Given the description of an element on the screen output the (x, y) to click on. 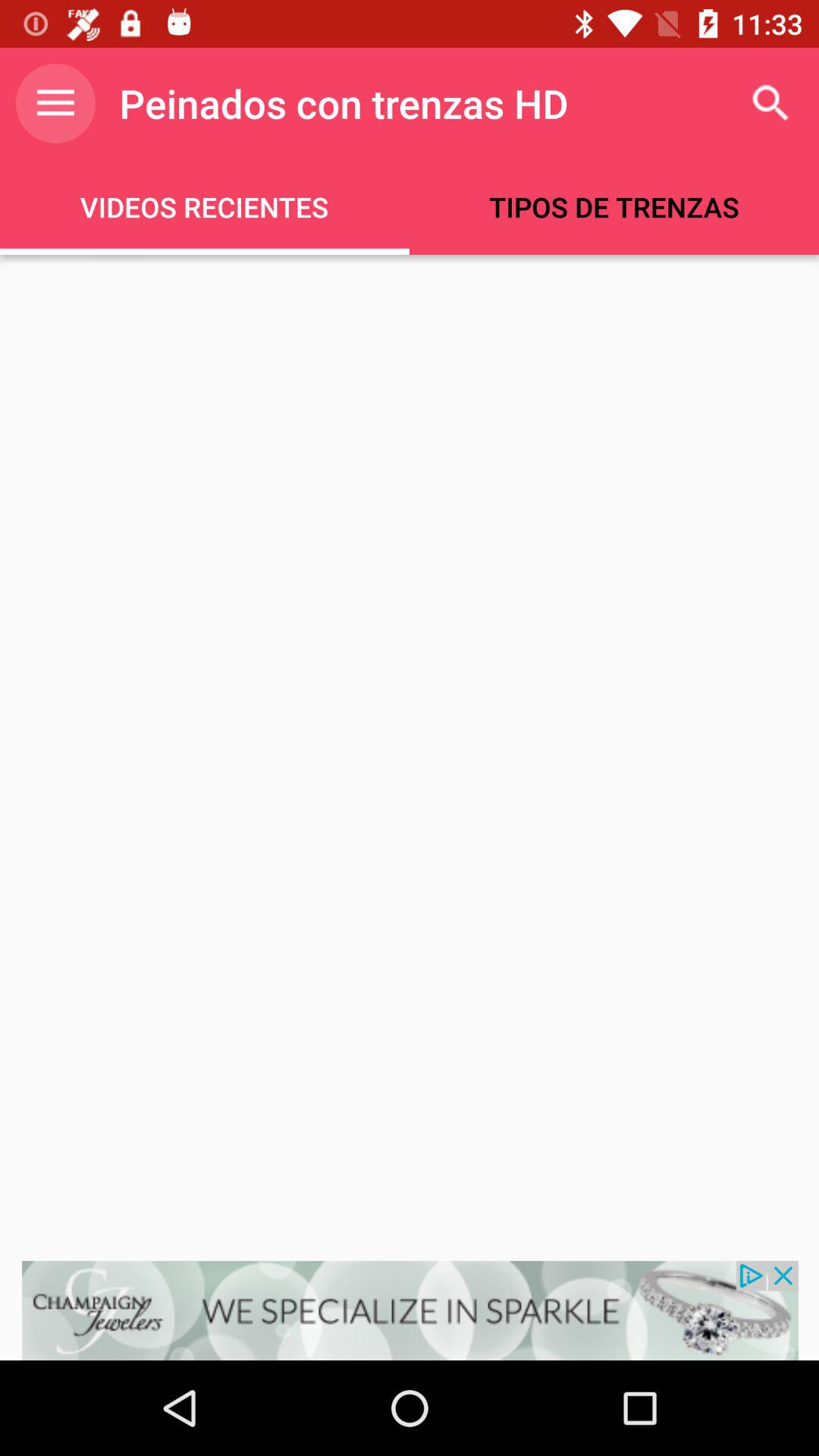
writting the text (409, 757)
